Given the description of an element on the screen output the (x, y) to click on. 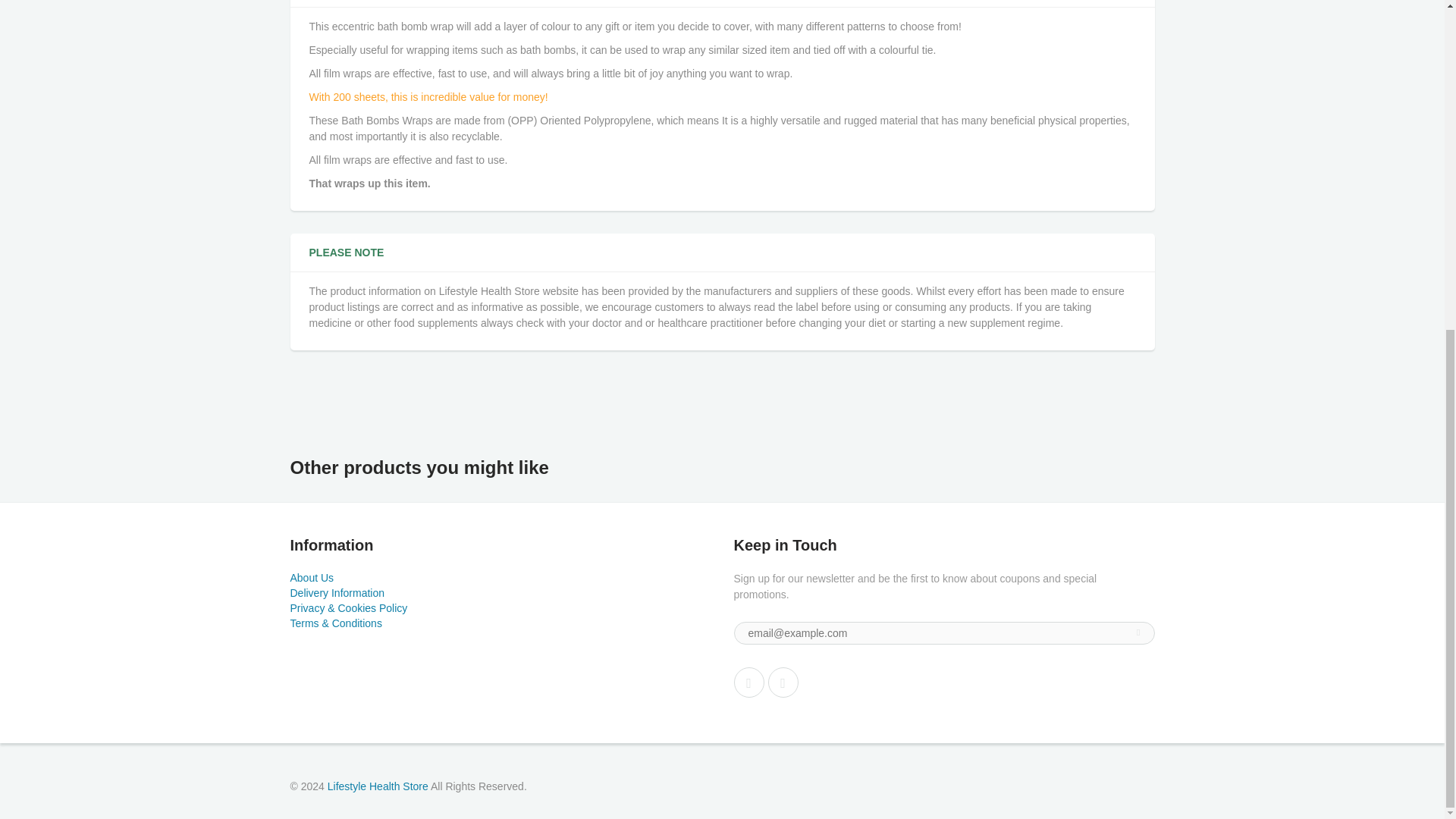
About Us (311, 577)
Instagram (782, 682)
Facebook (748, 682)
Lifestyle Health Store (377, 786)
Delivery Information (336, 592)
